Given the description of an element on the screen output the (x, y) to click on. 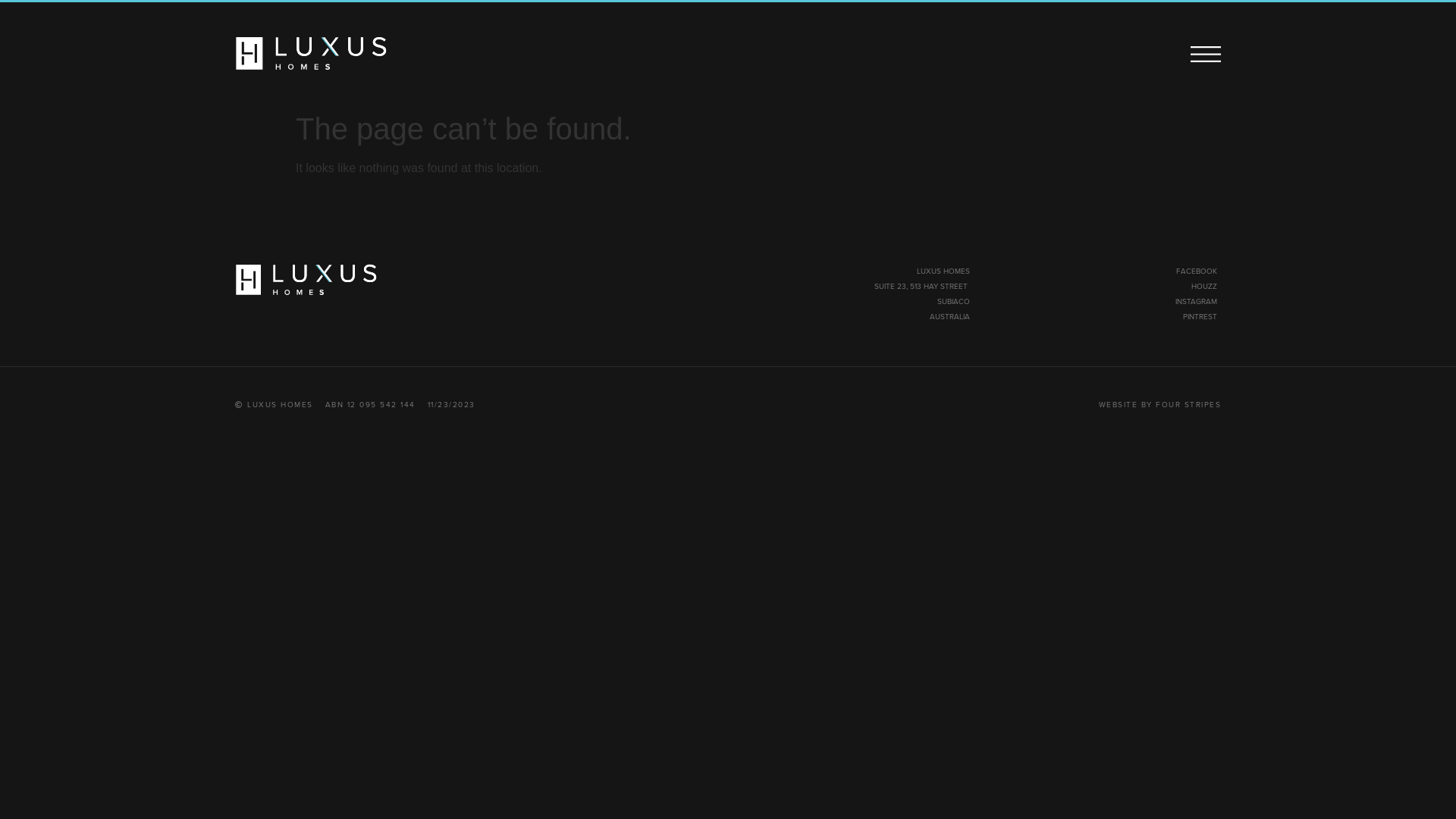
FACEBOOK Element type: text (1196, 270)
PINTREST Element type: text (1200, 316)
HOUZZ Element type: text (1204, 285)
WEBSITE BY FOUR STRIPES Element type: text (1159, 404)
INSTAGRAM Element type: text (1196, 301)
